Given the description of an element on the screen output the (x, y) to click on. 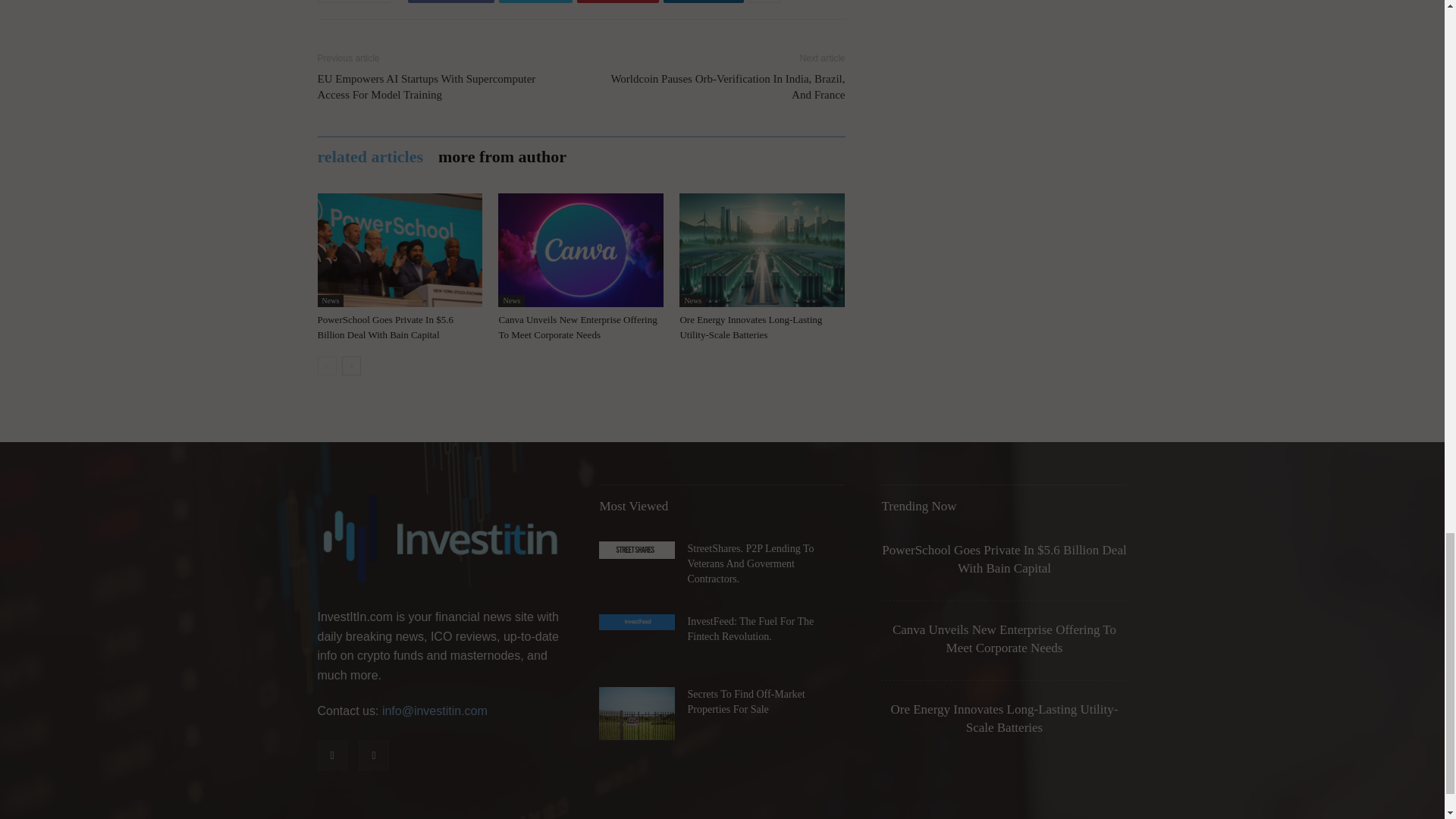
Ore Energy Innovates Long-Lasting Utility-Scale Batteries (761, 250)
Ore Energy Innovates Long-Lasting Utility-Scale Batteries (750, 326)
